Given the description of an element on the screen output the (x, y) to click on. 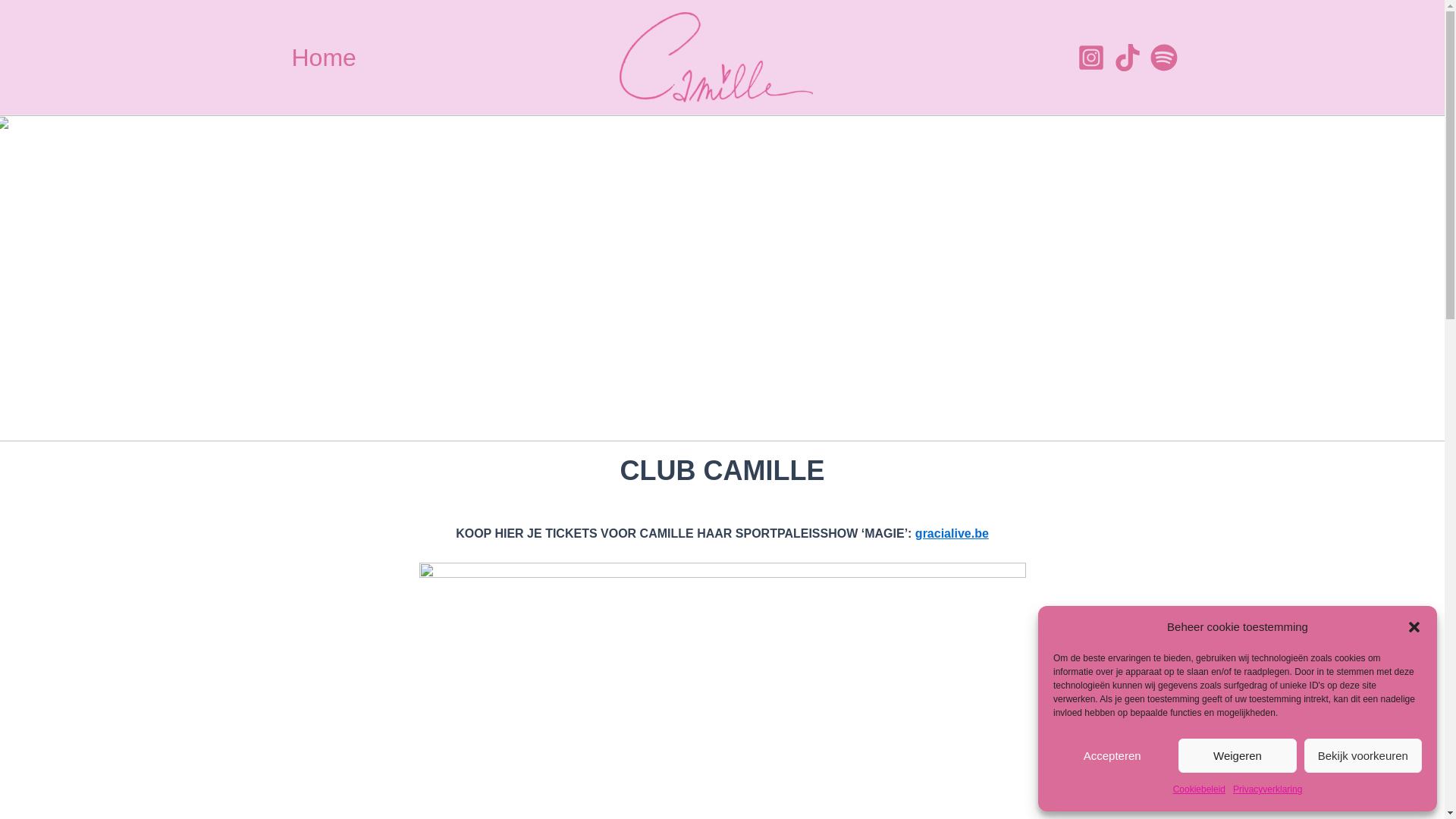
Bekijk voorkeuren Element type: text (1362, 755)
Privacyverklaring Element type: text (1267, 790)
Cookiebeleid Element type: text (1199, 790)
gracialive.be Element type: text (951, 533)
Accepteren Element type: text (1111, 755)
Weigeren Element type: text (1236, 755)
Home Element type: text (322, 57)
